Given the description of an element on the screen output the (x, y) to click on. 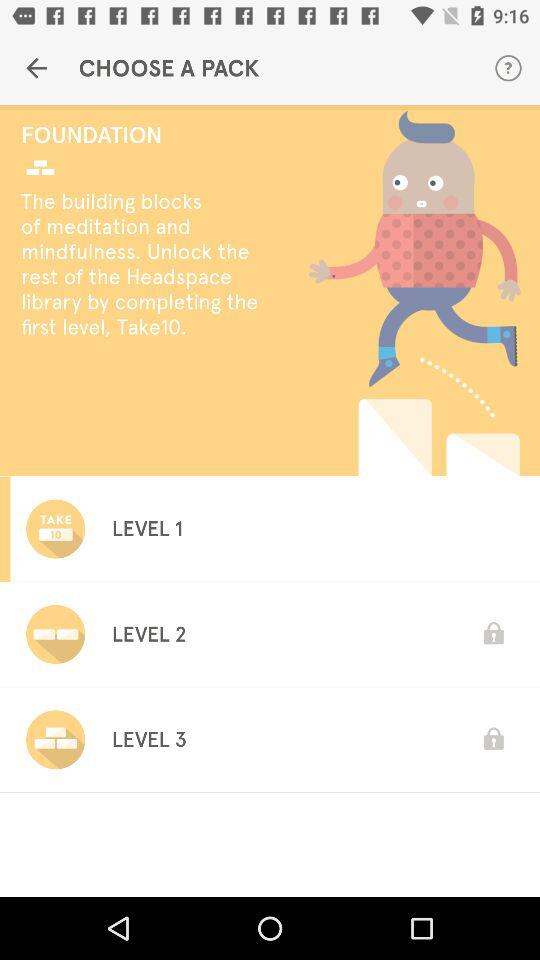
select the icon beside level 1 (55, 529)
